Given the description of an element on the screen output the (x, y) to click on. 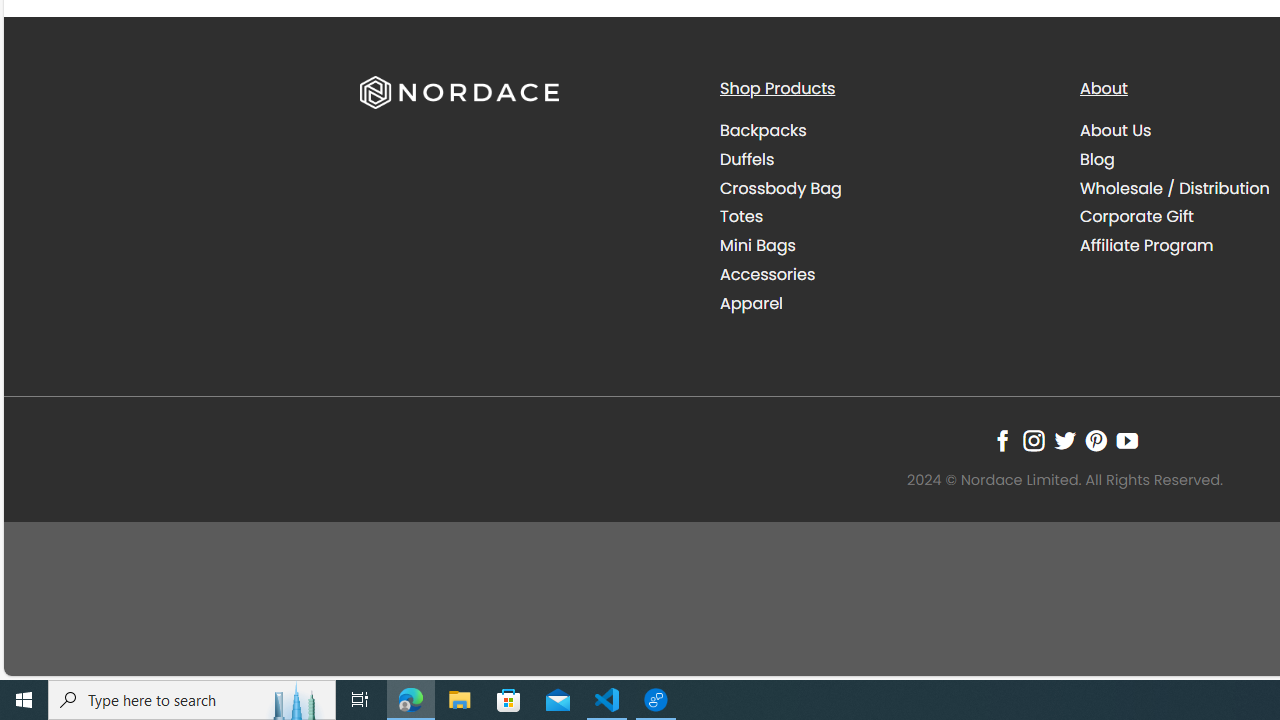
Blog (1097, 158)
Corporate Gift (1137, 216)
Crossbody Bag (780, 187)
Accessories (884, 274)
Follow on Twitter (1064, 440)
Accessories (767, 273)
Wholesale / Distribution (1174, 187)
Backpacks (762, 130)
Mini Bags (884, 246)
